Given the description of an element on the screen output the (x, y) to click on. 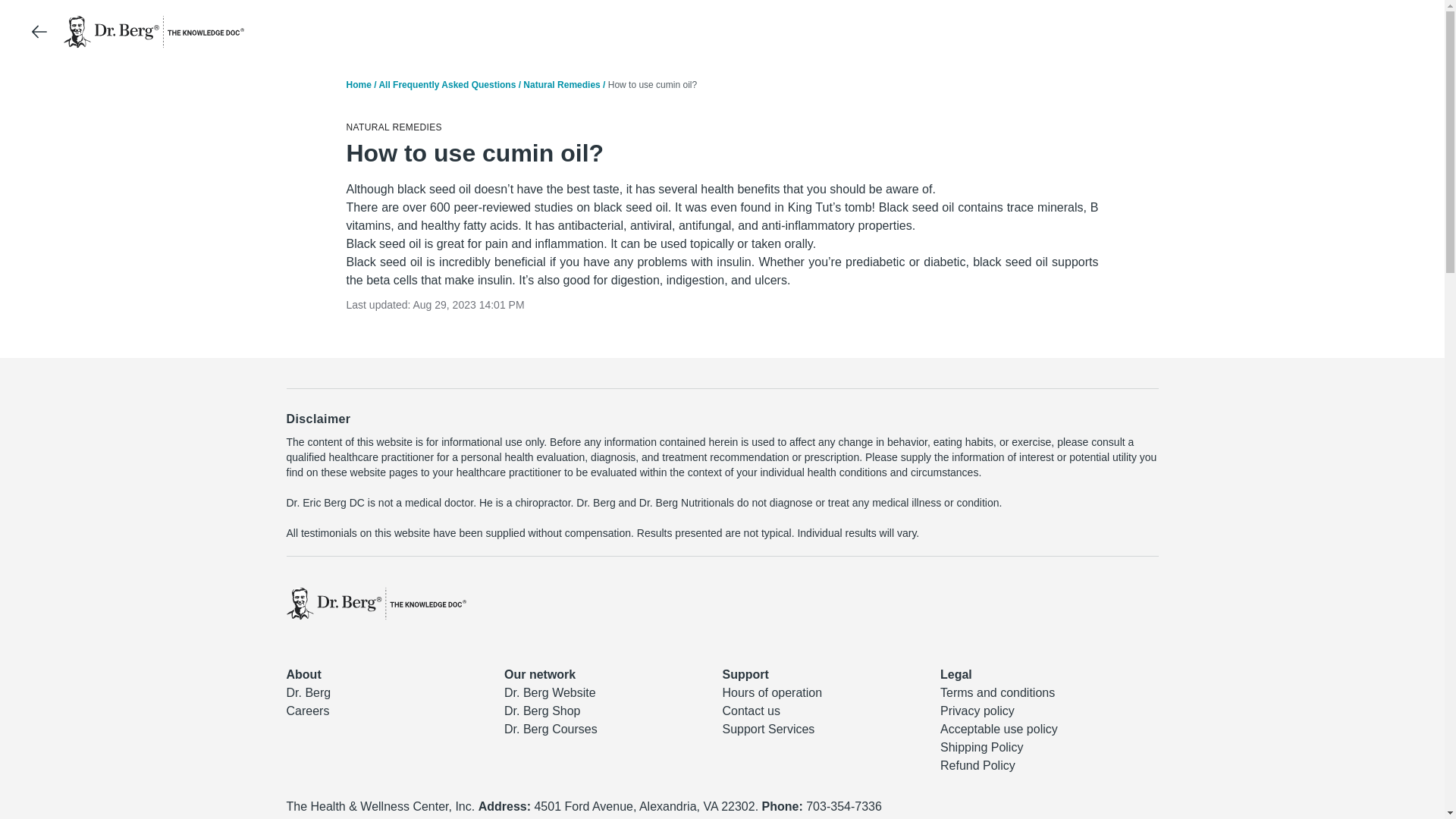
Refund Policy (977, 765)
Careers (308, 710)
Support Services (767, 728)
All Frequently Asked Questions (446, 84)
Dr. Berg (308, 692)
Home (358, 84)
Acceptable use policy (999, 728)
Terms and conditions (997, 692)
Privacy policy (977, 710)
Shipping Policy (981, 747)
